Given the description of an element on the screen output the (x, y) to click on. 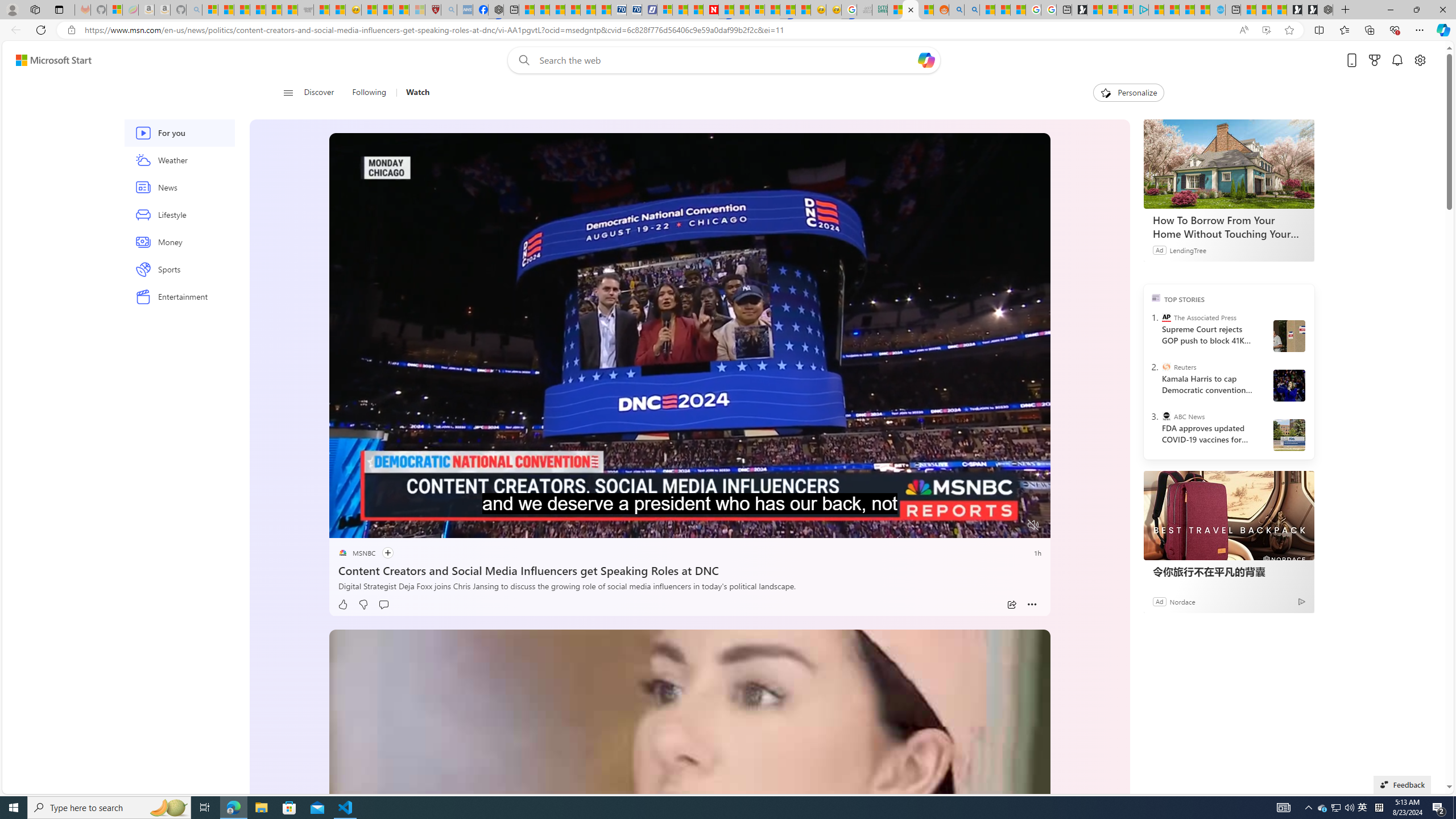
Cheap Hotels - Save70.com (633, 9)
placeholder MSNBC (356, 552)
Newsweek - News, Analysis, Politics, Business, Technology (710, 9)
Pause (346, 525)
